Given the description of an element on the screen output the (x, y) to click on. 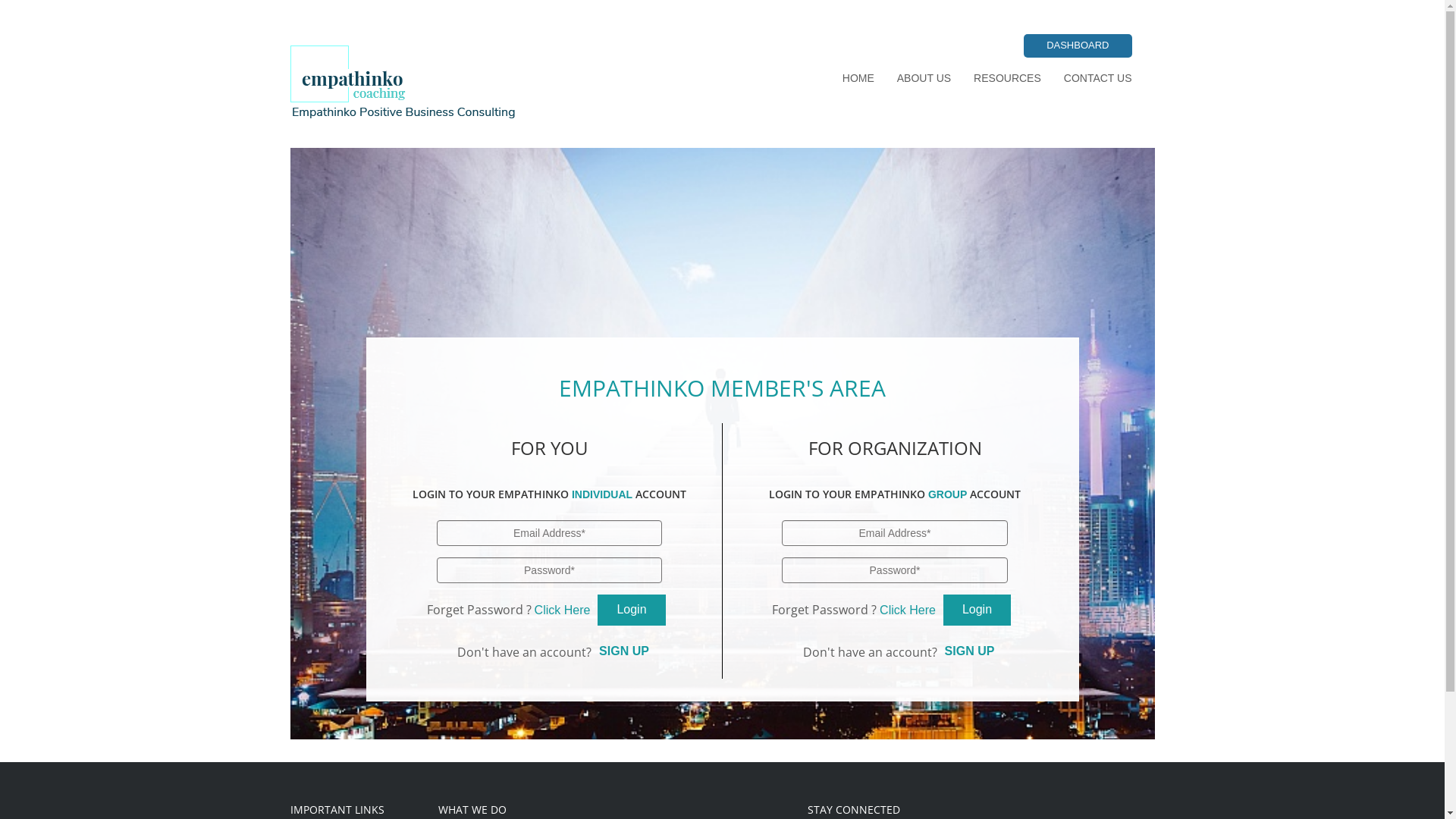
RESOURCES Element type: text (1007, 79)
Click Here Element type: text (907, 609)
Login Element type: text (631, 609)
CONTACT US Element type: text (1097, 79)
INDIVIDUAL Element type: text (601, 494)
SIGN UP Element type: text (624, 650)
HOME Element type: text (858, 79)
ABOUT US Element type: text (923, 79)
SIGN UP Element type: text (969, 650)
Login Element type: text (976, 609)
DASHBOARD Element type: text (1077, 45)
GROUP Element type: text (947, 494)
Click Here Element type: text (562, 609)
